Given the description of an element on the screen output the (x, y) to click on. 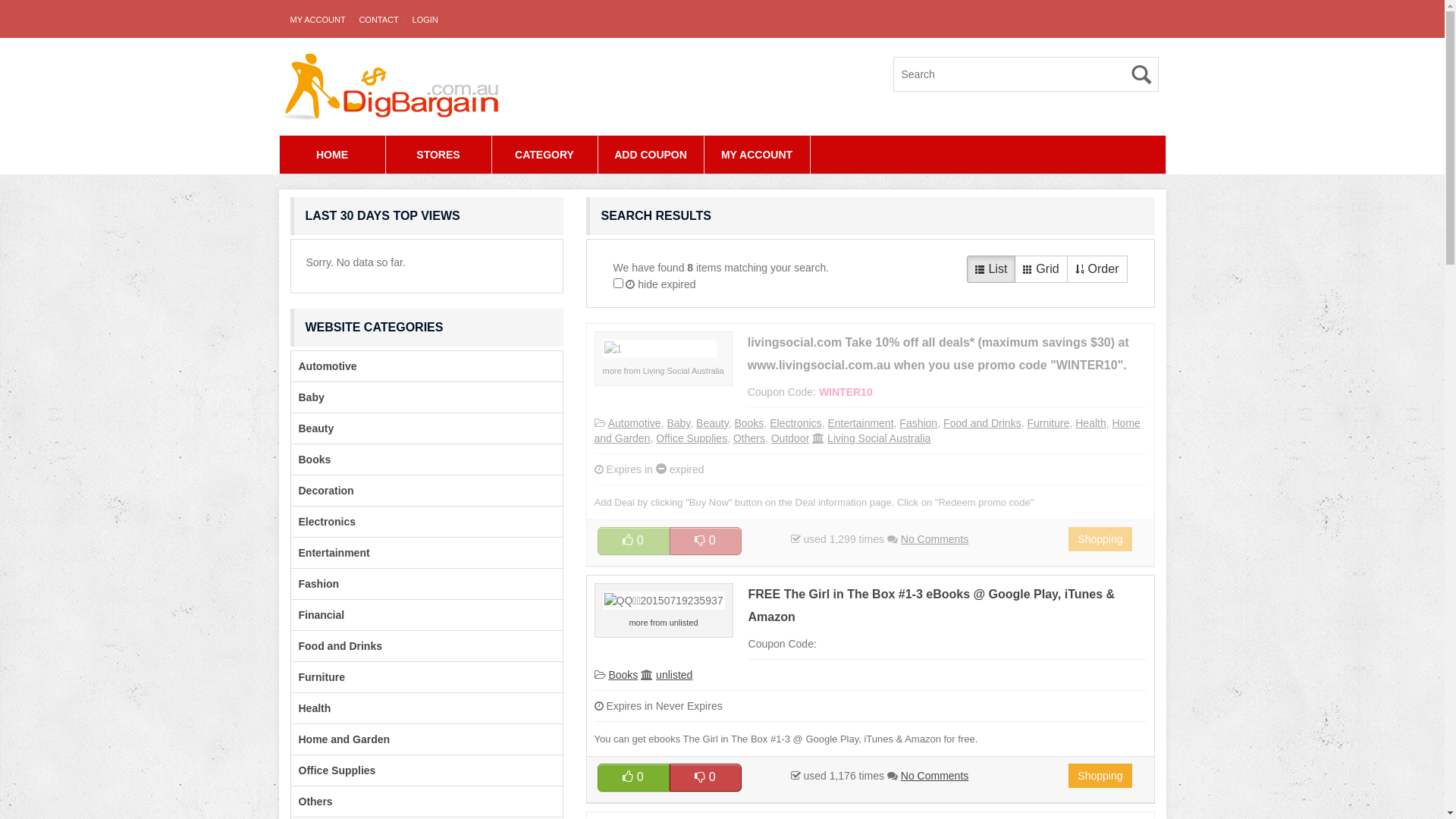
Health Element type: text (311, 708)
unlisted Element type: text (673, 674)
Office Supplies Element type: text (691, 438)
Books Element type: text (311, 459)
more from Living Social Australia Element type: text (662, 370)
Automotive Element type: text (324, 366)
Entertainment Element type: text (330, 552)
DigBargain, Australia Coupon Site Element type: hover (388, 85)
Electronics Element type: text (323, 521)
Furniture Element type: text (1047, 423)
more from unlisted Element type: text (662, 622)
Books Element type: text (622, 674)
Electronics Element type: text (795, 423)
Outdoor Element type: text (790, 438)
CONTACT Element type: text (378, 19)
ADD COUPON Element type: text (649, 154)
Food and Drinks Element type: text (982, 423)
Baby Element type: text (307, 397)
Health Element type: text (1090, 423)
Financial Element type: text (318, 614)
List Element type: text (990, 268)
CATEGORY Element type: text (543, 154)
Automotive Element type: text (634, 423)
MY ACCOUNT Element type: text (317, 19)
LOGIN Element type: text (425, 19)
Home and Garden Element type: text (340, 739)
Grid Element type: text (1040, 268)
Home and Garden Element type: text (867, 430)
Decoration Element type: text (322, 490)
Others Element type: text (311, 801)
Baby Element type: text (678, 423)
Books Element type: text (748, 423)
Fashion Element type: text (315, 583)
Others Element type: text (749, 438)
Order Element type: text (1096, 268)
Beauty Element type: text (312, 428)
HOME Element type: text (331, 154)
Entertainment Element type: text (860, 423)
Food and Drinks Element type: text (336, 646)
MY ACCOUNT Element type: text (756, 154)
Shopping Element type: text (1099, 539)
No Comments Element type: text (934, 775)
Living Social Australia Element type: text (878, 438)
Fashion Element type: text (918, 423)
Shopping Element type: text (1099, 775)
Furniture Element type: text (318, 677)
Beauty Element type: text (712, 423)
STORES Element type: text (437, 154)
No Comments Element type: text (934, 539)
Office Supplies Element type: text (333, 770)
